Given the description of an element on the screen output the (x, y) to click on. 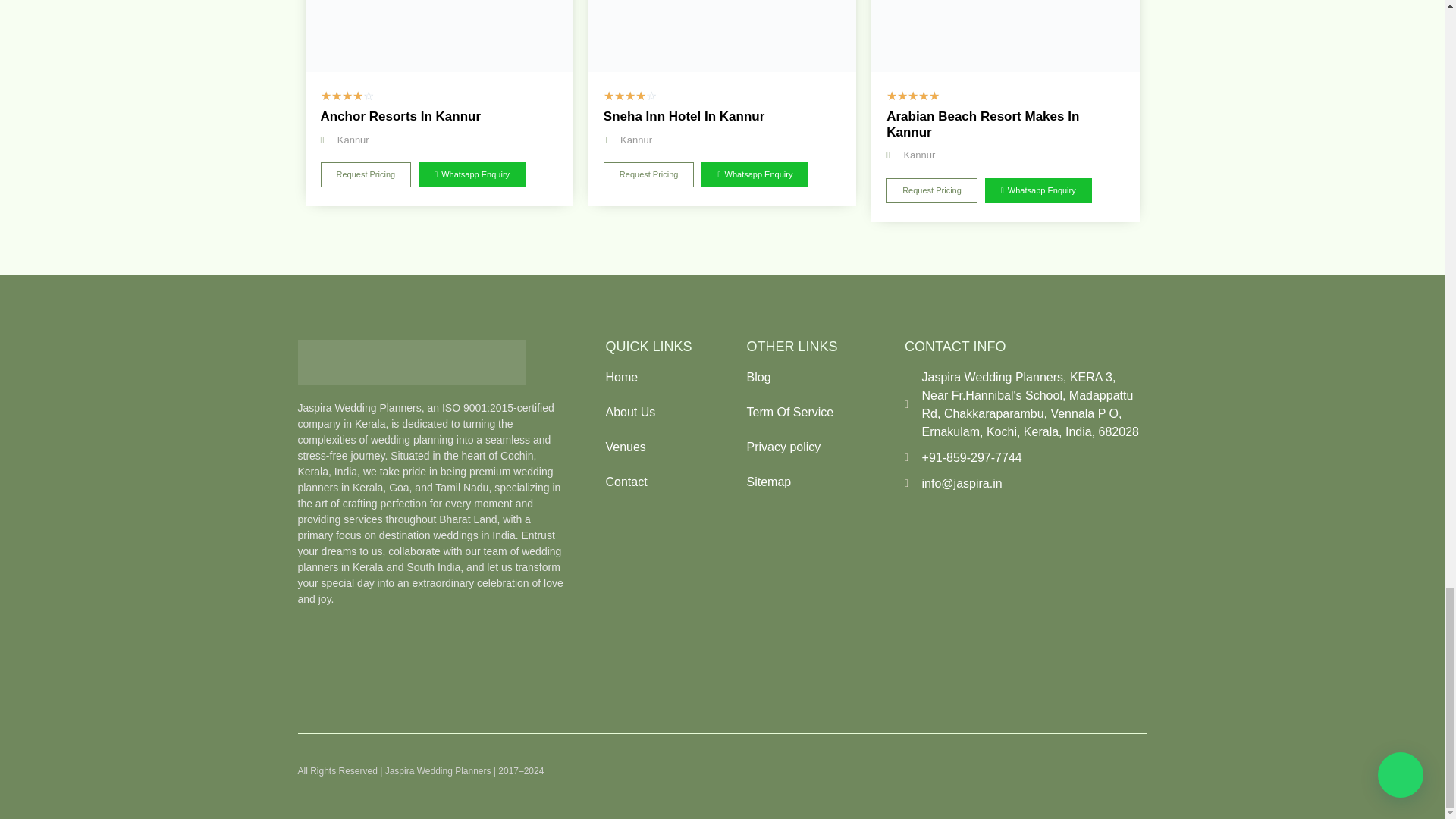
Anchor Resorts In Kannur (438, 36)
Sneha Inn, Kannur W (722, 36)
Arabian Beach Resort Makes W (1004, 36)
